Given the description of an element on the screen output the (x, y) to click on. 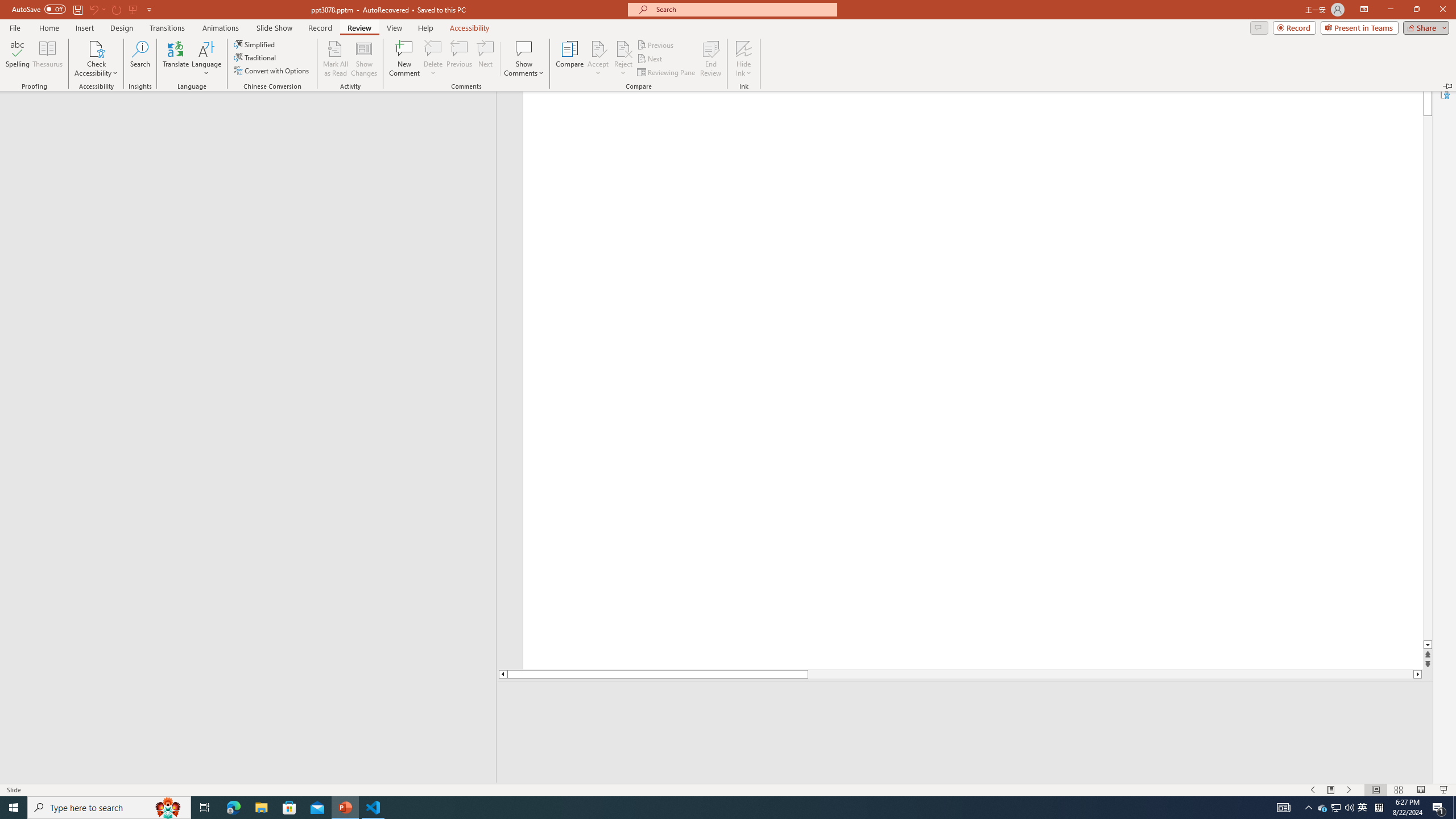
PowerPoint - 1 running window (1362, 807)
Notification Chevron (345, 807)
Running applications (1308, 807)
Visual Studio Code - 1 running window (700, 807)
Slide Notes (373, 807)
